Given the description of an element on the screen output the (x, y) to click on. 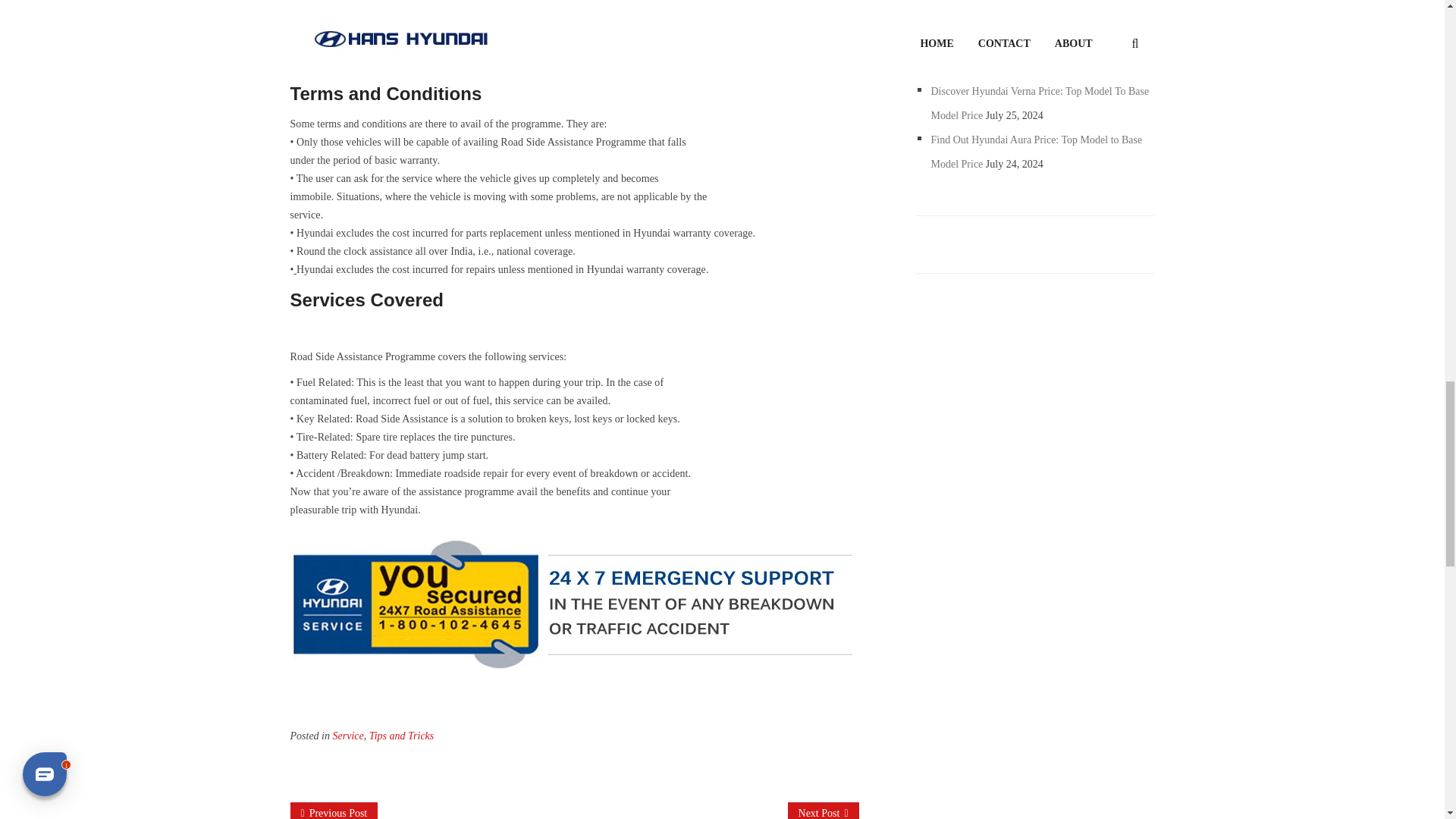
Service (346, 736)
Tips and Tricks (401, 736)
Hyundai Car Care Guide (333, 810)
Find Out Hyundai Aura Price: Top Model to Base Model Price (1036, 151)
Discover Hyundai Verna Price: Top Model To Base Model Price (1040, 103)
Why to Buy Hyundai Cars: Price, Service Cost (823, 810)
Previous Post (333, 810)
Next Post (823, 810)
How Much Does the Hyundai Verna Cost in Delhi? (1040, 42)
